Given the description of an element on the screen output the (x, y) to click on. 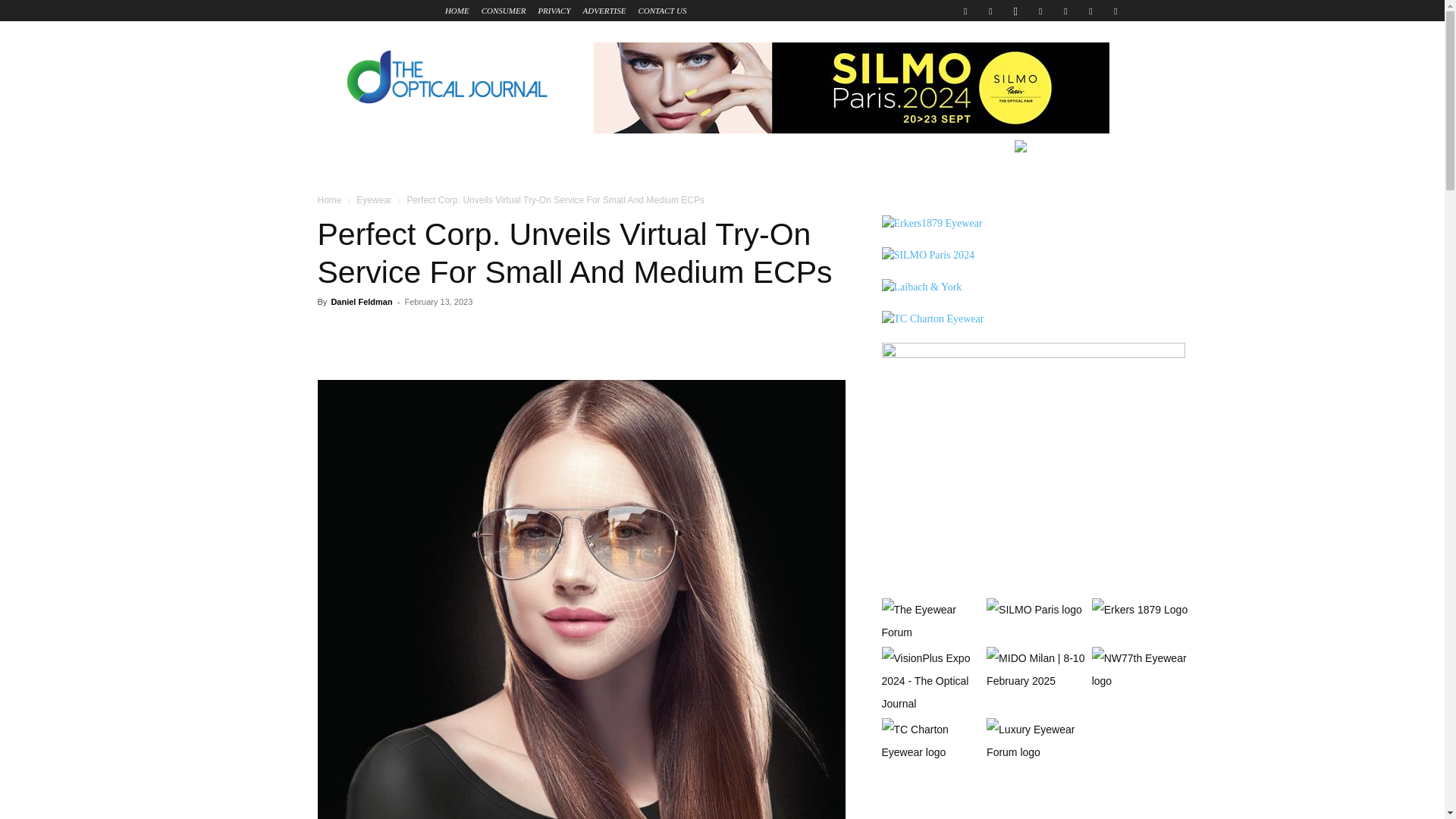
Flipboard (989, 10)
Facebook (964, 10)
Instagram (1015, 10)
Twitter (1090, 10)
Youtube (1114, 10)
Linkedin (1040, 10)
Pinterest (1065, 10)
